Given the description of an element on the screen output the (x, y) to click on. 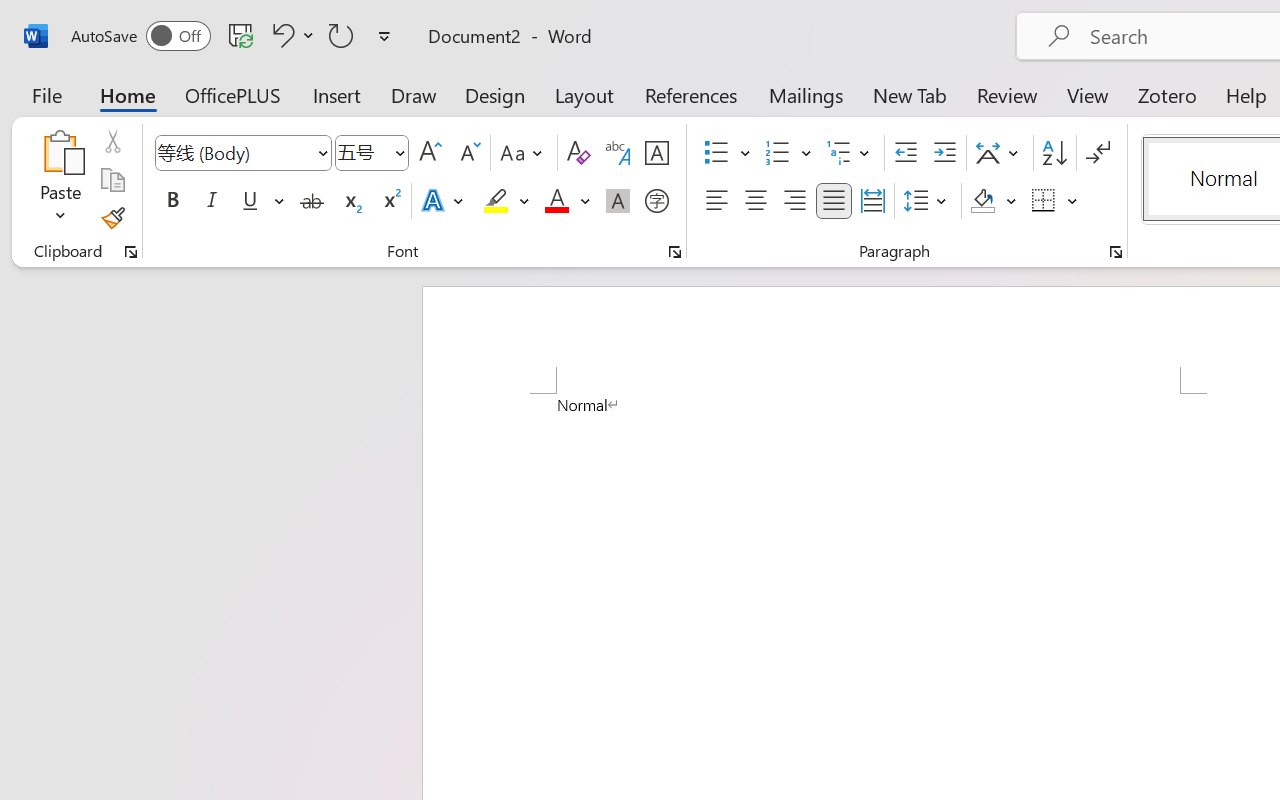
Multilevel List (850, 153)
Paste (60, 179)
Bullets (727, 153)
Character Border (656, 153)
More Options (1073, 201)
File Tab (46, 94)
Distributed (872, 201)
Font... (675, 252)
Bold (172, 201)
Superscript (390, 201)
Shading (993, 201)
Quick Access Toolbar (233, 36)
Numbering (788, 153)
Format Painter (112, 218)
Paste (60, 151)
